Given the description of an element on the screen output the (x, y) to click on. 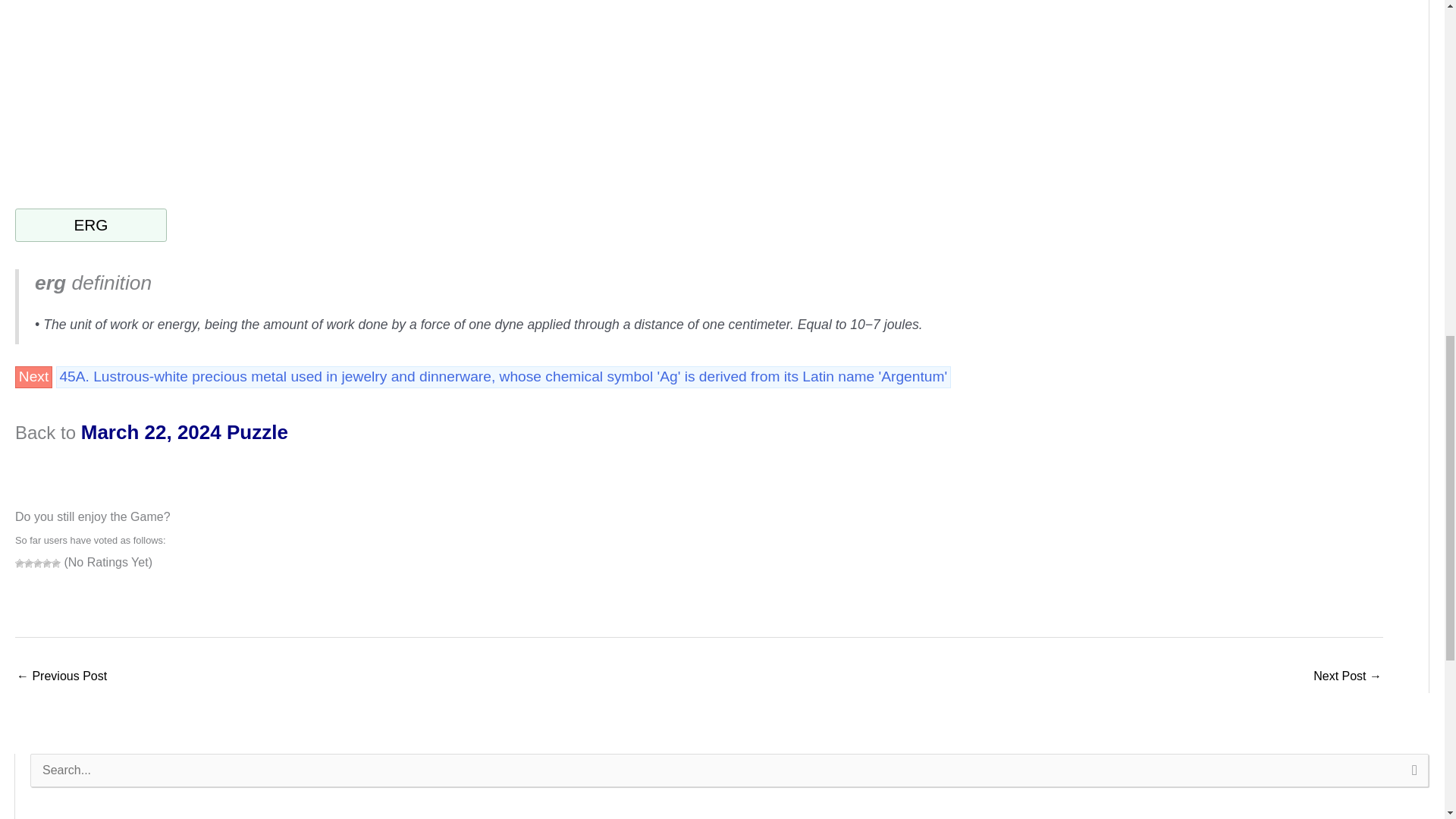
1 Star (19, 563)
Comrade-in-arms, say Crossword Clue (61, 677)
March 22, 2024 Puzzle (184, 431)
5 Stars (55, 563)
3 Stars (37, 563)
Kidney-shaped nut used in some vegan milk Crossword Clue (1347, 677)
2 Stars (28, 563)
Advertisement (141, 85)
4 Stars (46, 563)
